Given the description of an element on the screen output the (x, y) to click on. 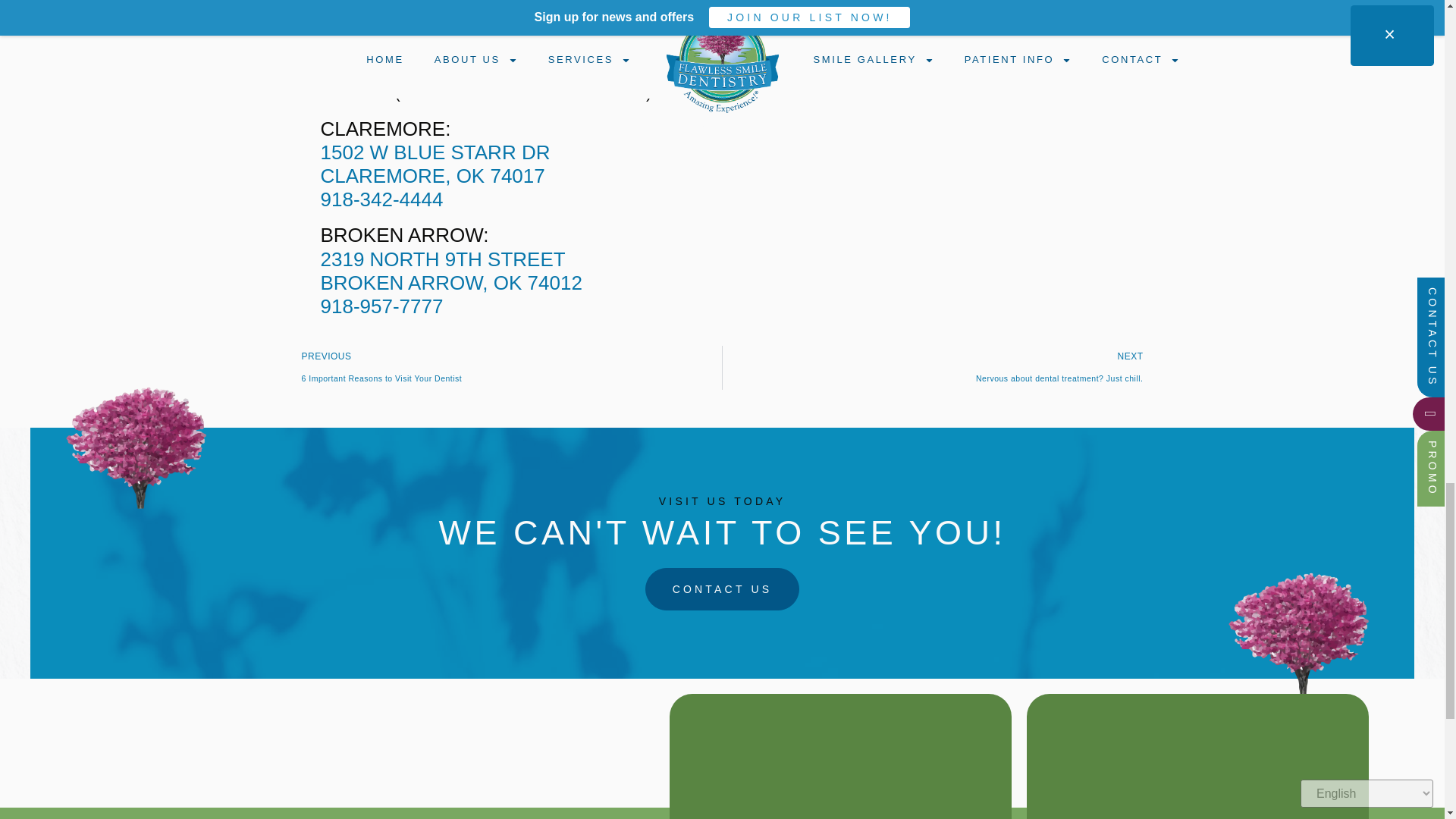
flawless smile dentistry claremore (1197, 760)
flawless smile dentistry broken arrow (840, 760)
